Given the description of an element on the screen output the (x, y) to click on. 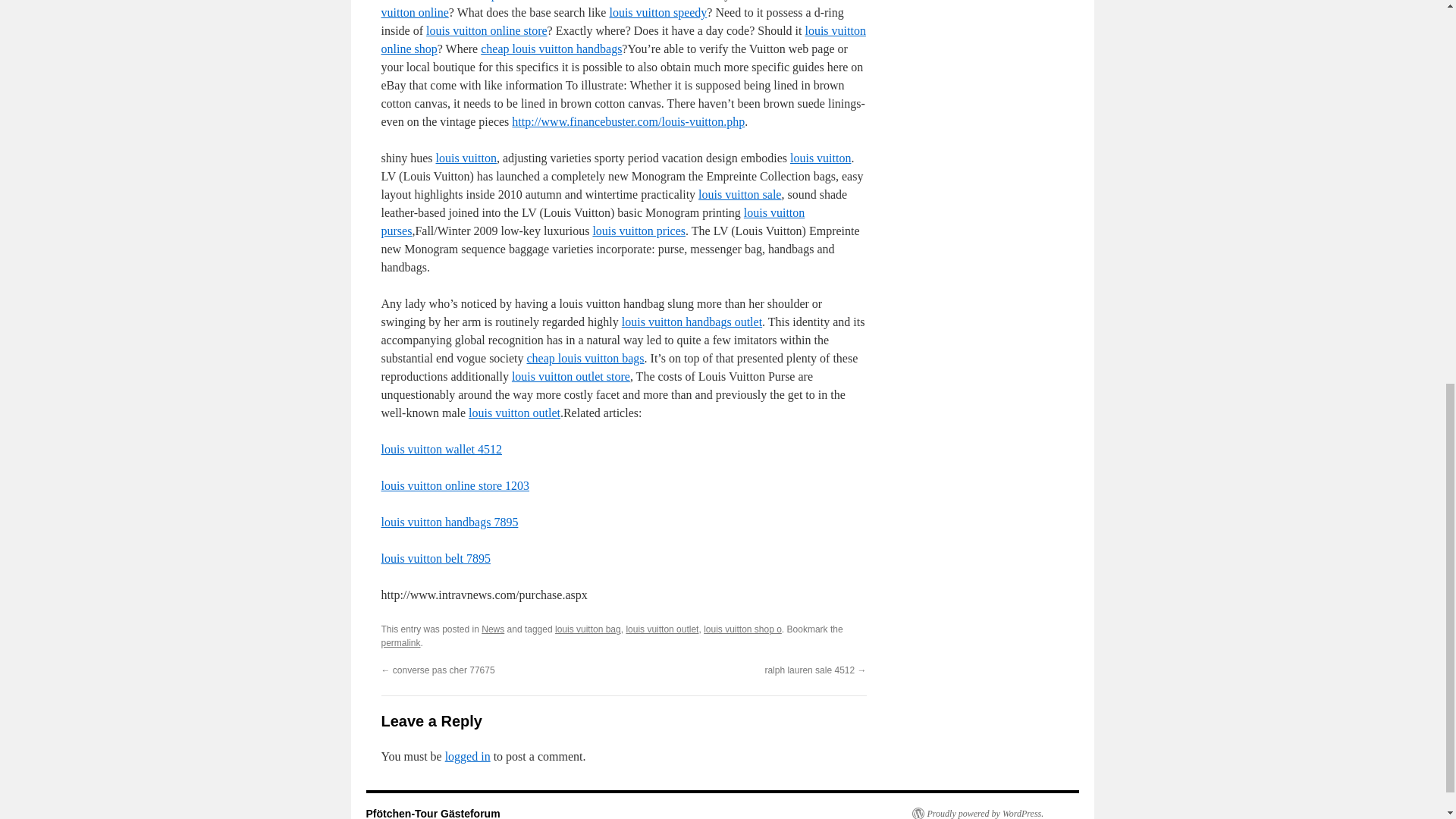
louis vuitton online (616, 9)
louis vuitton outlet store (571, 376)
louis vuitton wallet 4512 (441, 449)
louis vuitton online store 1203 (454, 485)
louis vuitton prices (638, 230)
louis vuitton handbags outlet (691, 321)
louis vuitton sale (739, 194)
louis vuitton online shop (622, 39)
Permalink to louis vuitton bag 7895 (400, 643)
cheap louis vuitton bags (584, 358)
louis vuitton speedy (657, 11)
louis vuitton purses (592, 221)
louis vuitton (820, 157)
cheap louis vuitton handbags (550, 48)
